Given the description of an element on the screen output the (x, y) to click on. 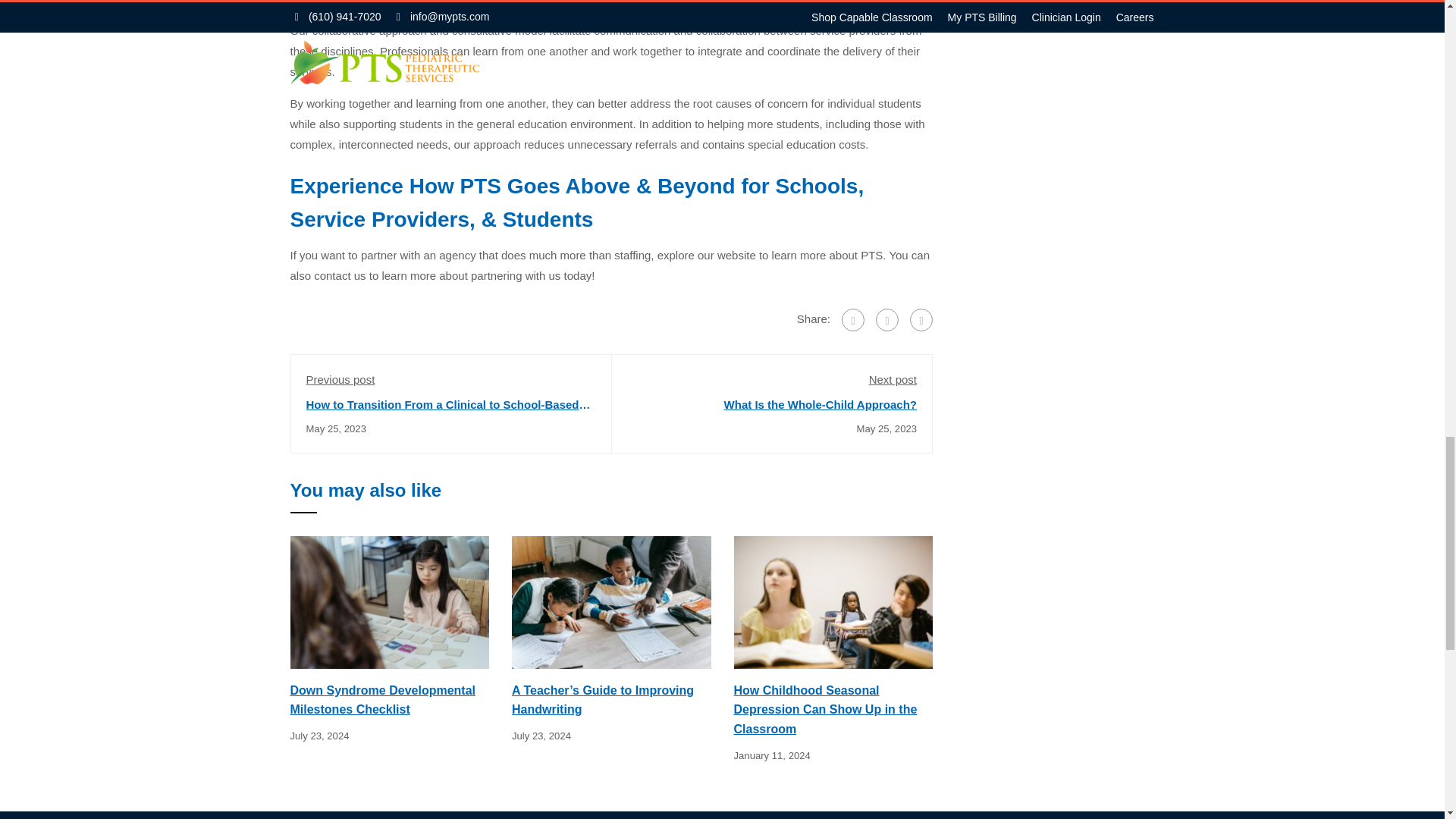
pexels-katerina-holmes-5905492 (611, 602)
Pinterest (921, 319)
Twitter (887, 319)
pexels-nicola-barts-7943259 (389, 602)
Facebook (852, 319)
Child depression (833, 602)
Down Syndrome Developmental Milestones Checklist (389, 600)
